Given the description of an element on the screen output the (x, y) to click on. 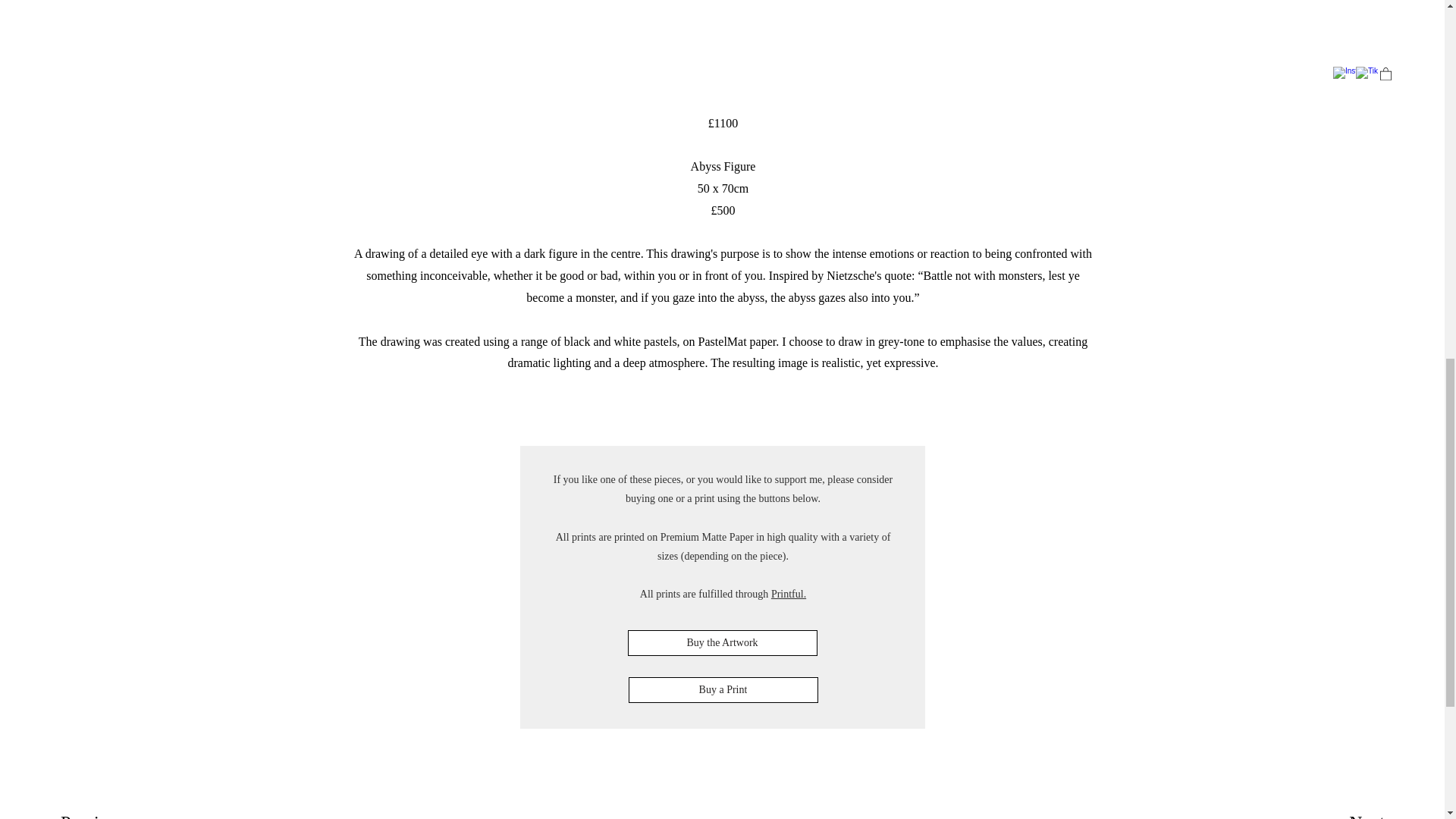
Previous (114, 813)
Next (1334, 813)
Buy the Artwork (721, 642)
Printful. (788, 593)
Buy a Print (721, 689)
